Given the description of an element on the screen output the (x, y) to click on. 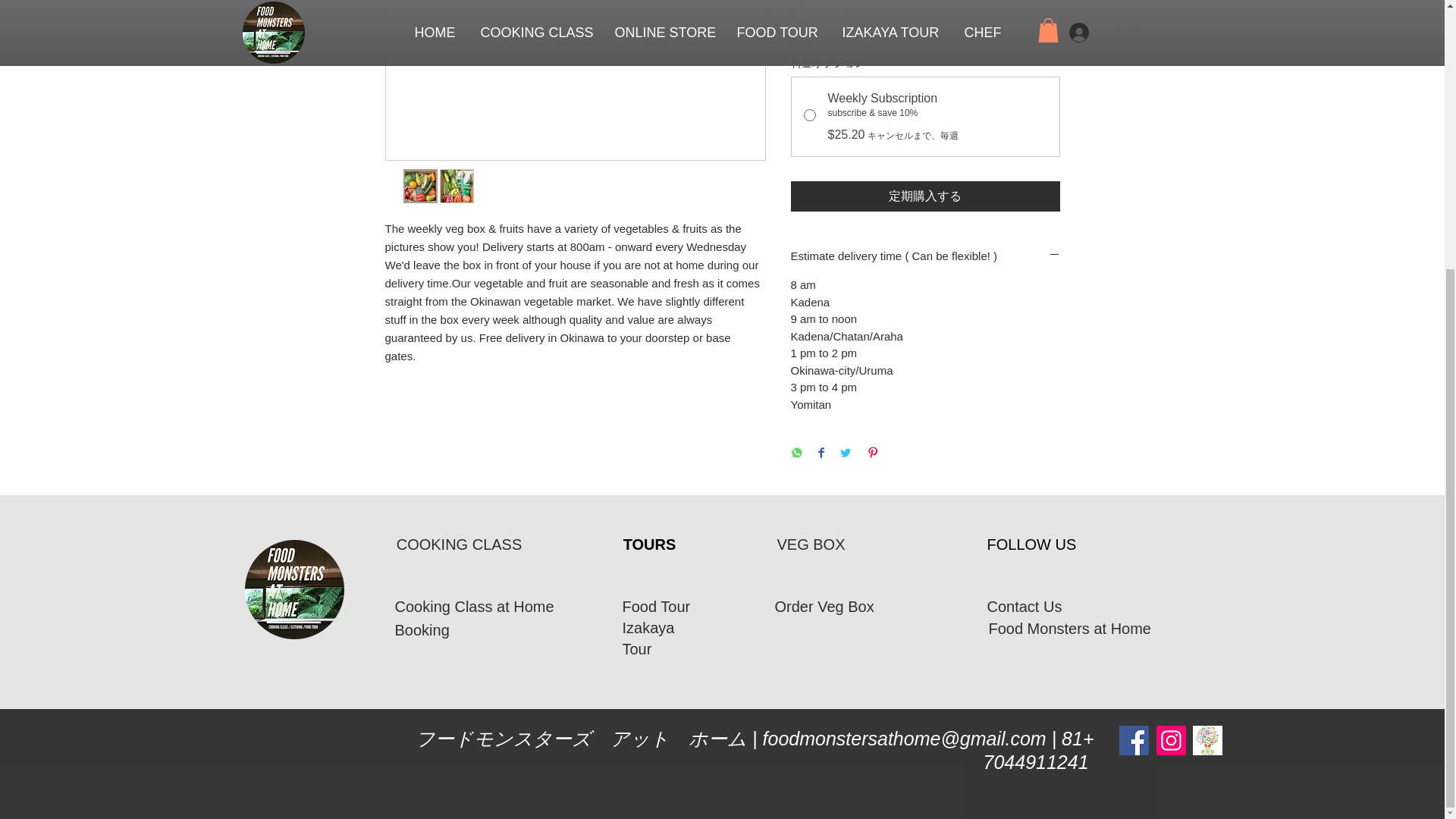
Contact Us (1024, 606)
Cooking Class at Home  (475, 606)
Food Monsters at Home  (1071, 628)
1 (818, 24)
Booking  (423, 629)
Izakaya Tour (647, 638)
Food Tour (655, 606)
Order Veg Box  (826, 606)
